Given the description of an element on the screen output the (x, y) to click on. 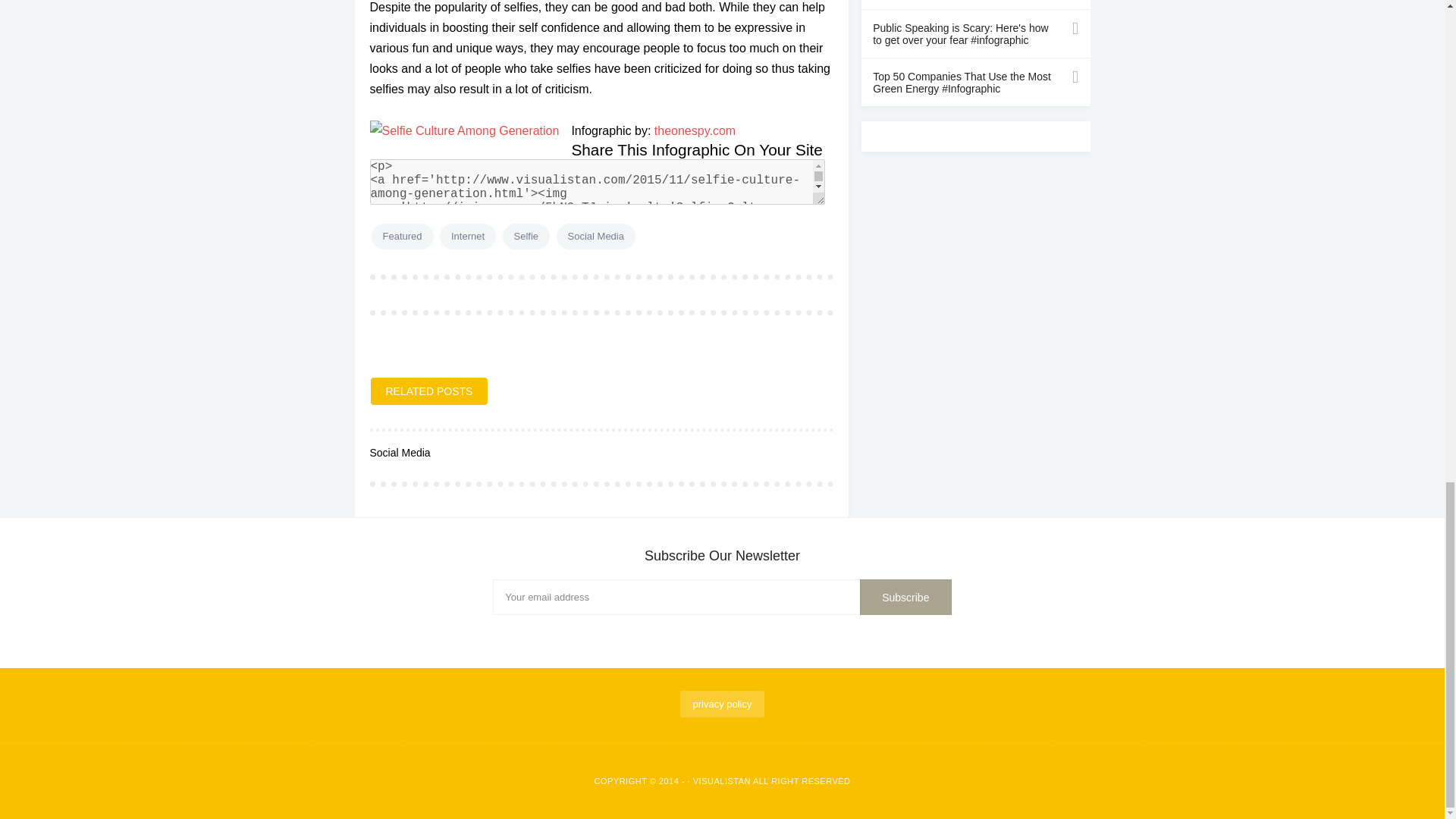
Internet (467, 236)
Social Media (595, 236)
Selfie (526, 236)
Subscribe (906, 597)
theonespy.com (694, 130)
Featured (402, 236)
